Given the description of an element on the screen output the (x, y) to click on. 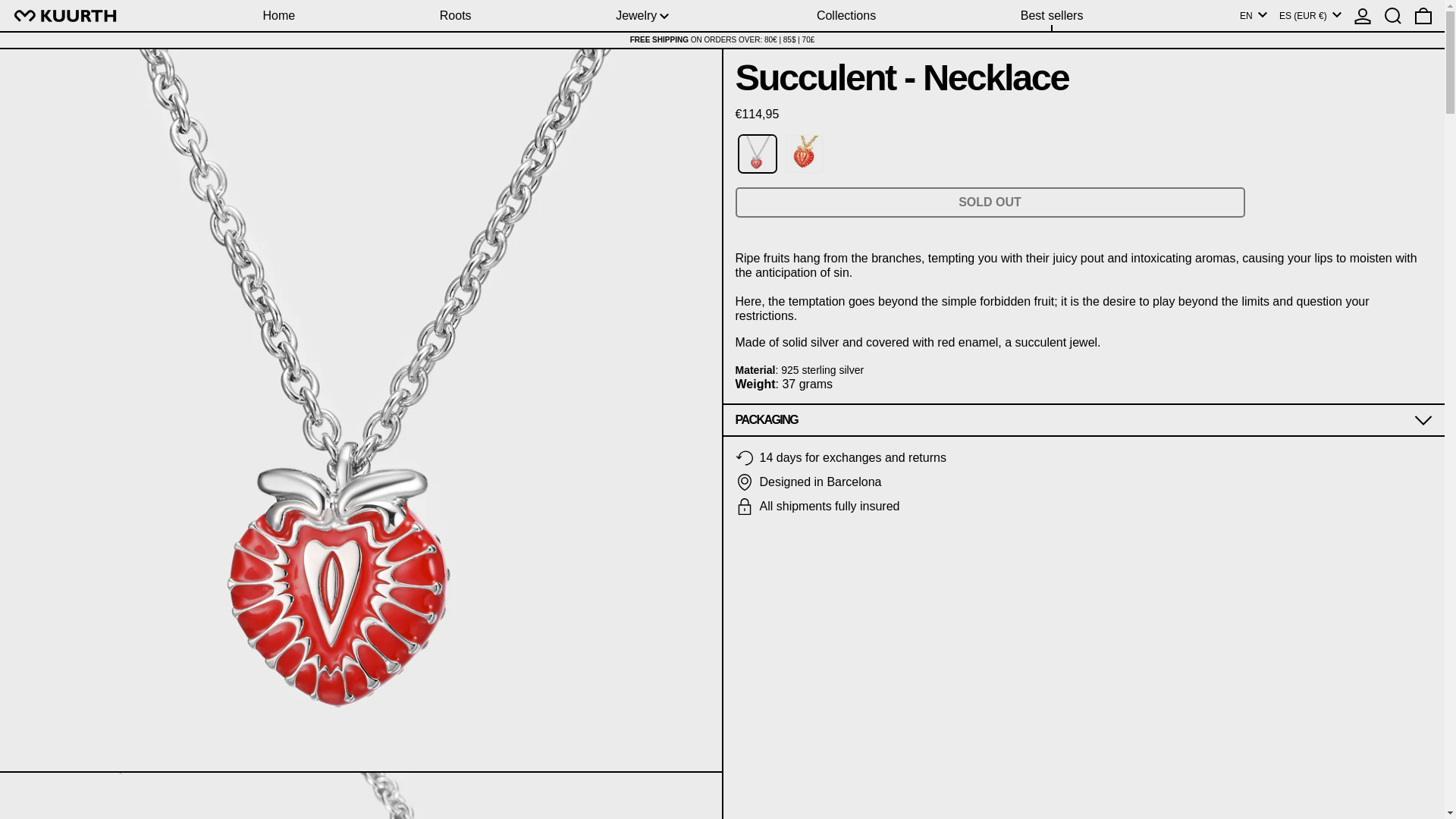
EN (1253, 15)
Roots (455, 15)
Collections (846, 15)
Jewelry (643, 15)
Best sellers (1051, 15)
Home (279, 15)
